Given the description of an element on the screen output the (x, y) to click on. 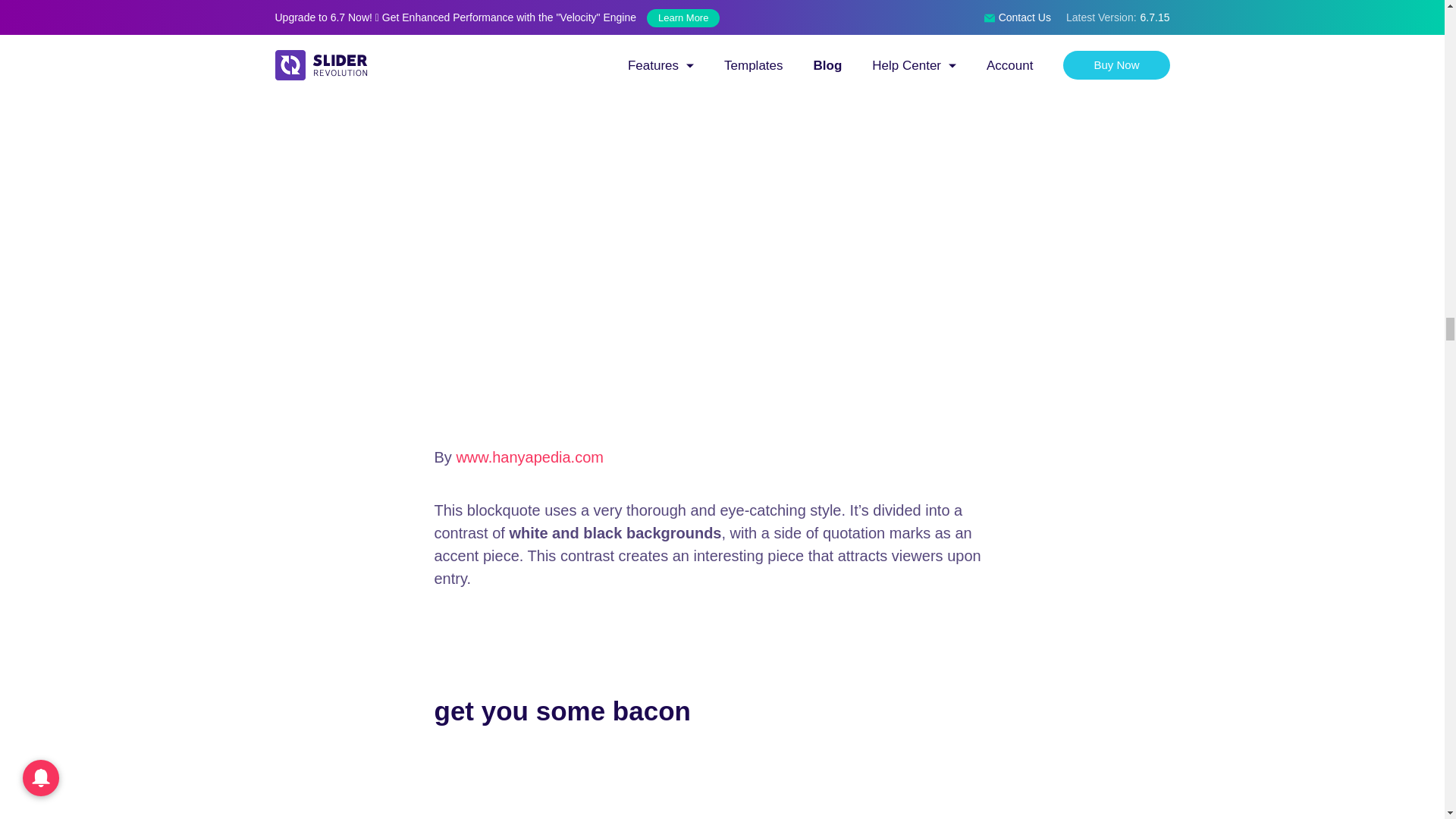
CodePen Embed rxObWx (721, 784)
